Given the description of an element on the screen output the (x, y) to click on. 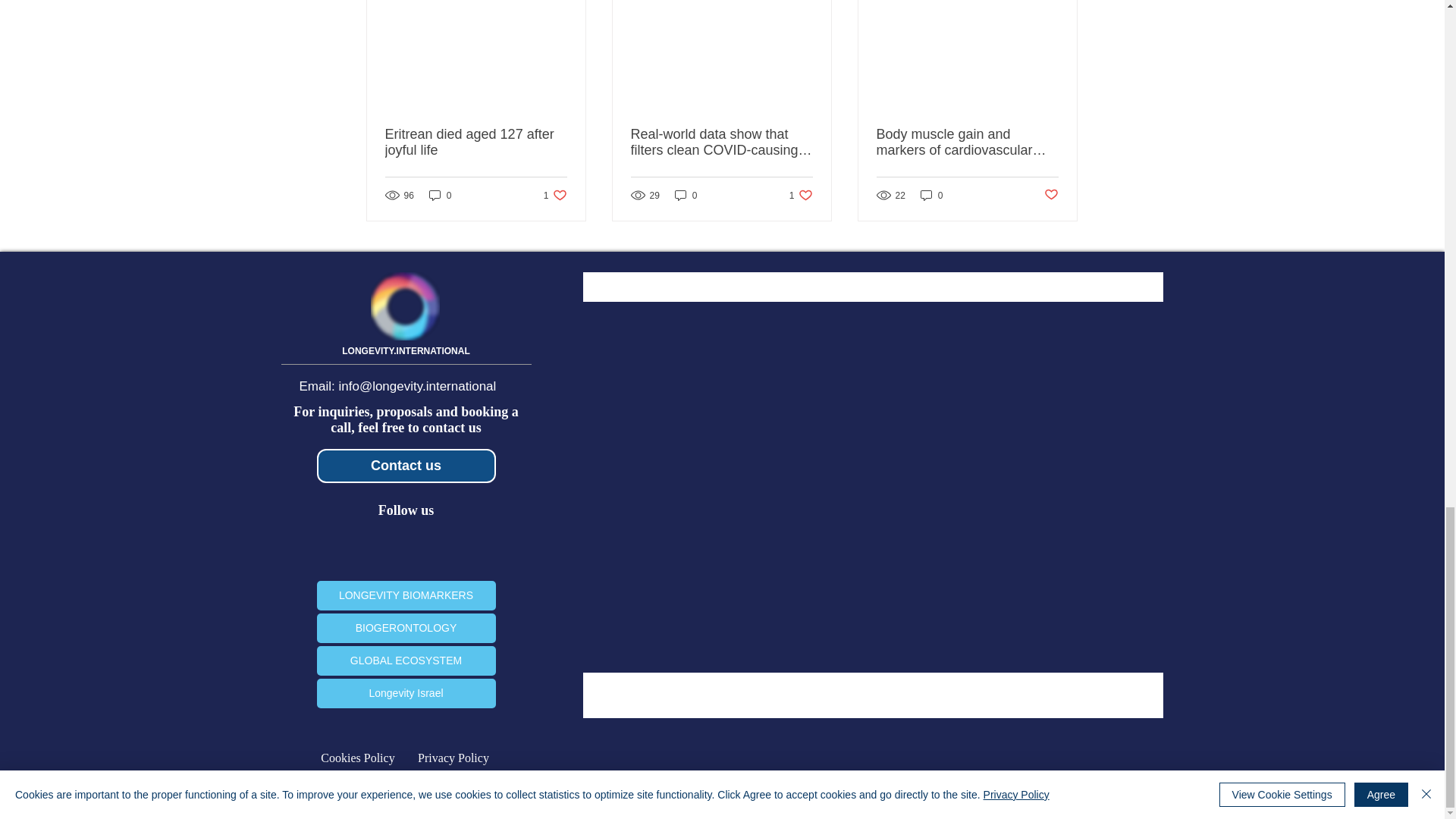
0 (555, 195)
Embedded Content (440, 195)
0 (476, 142)
